Given the description of an element on the screen output the (x, y) to click on. 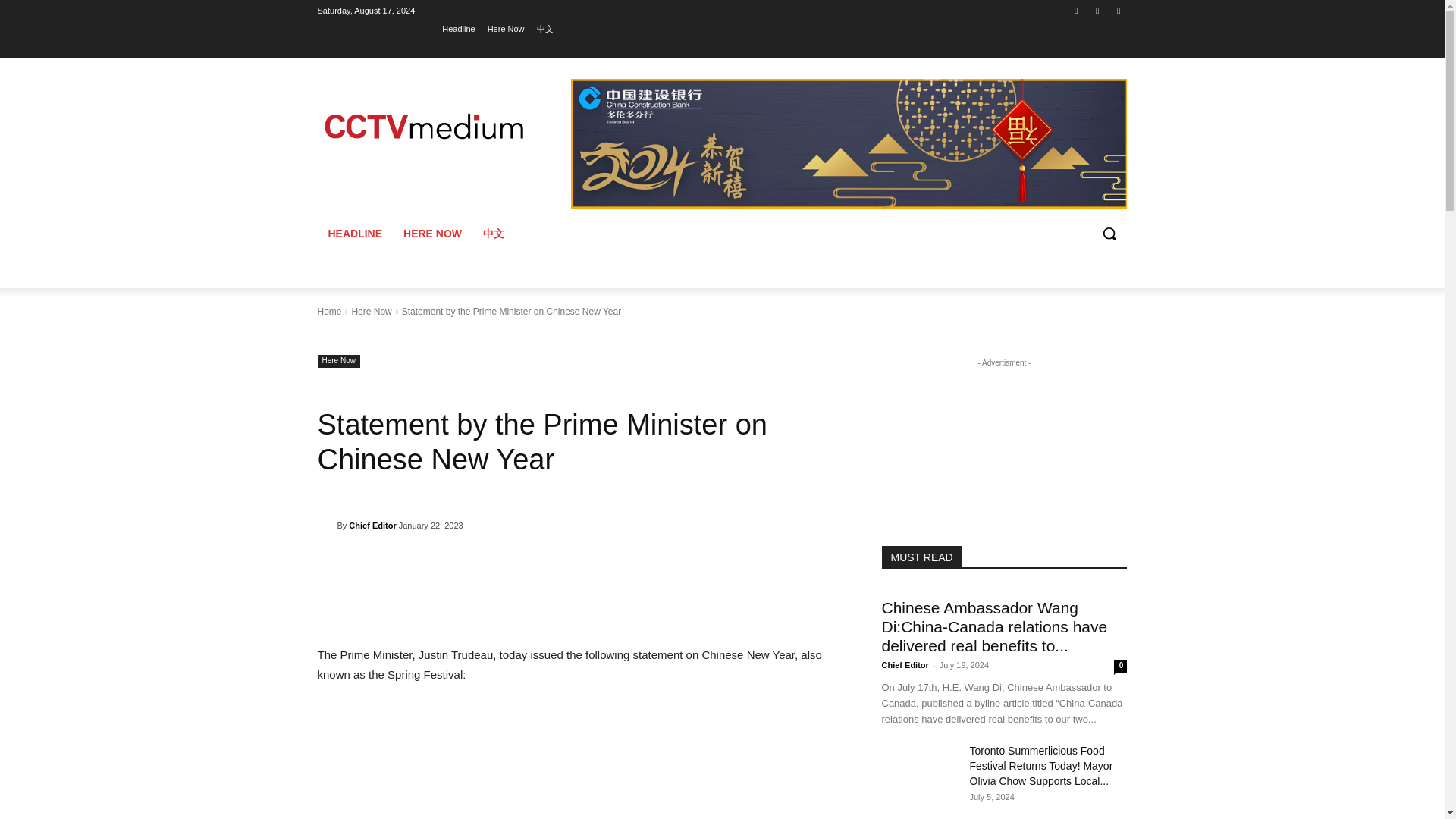
Here Now (338, 360)
Facebook (1075, 9)
Home (328, 311)
Chief Editor (326, 525)
Youtube (1117, 9)
Here Now (505, 28)
HEADLINE (355, 233)
HERE NOW (432, 233)
View all posts in Here Now (370, 311)
Chief Editor (372, 525)
